Given the description of an element on the screen output the (x, y) to click on. 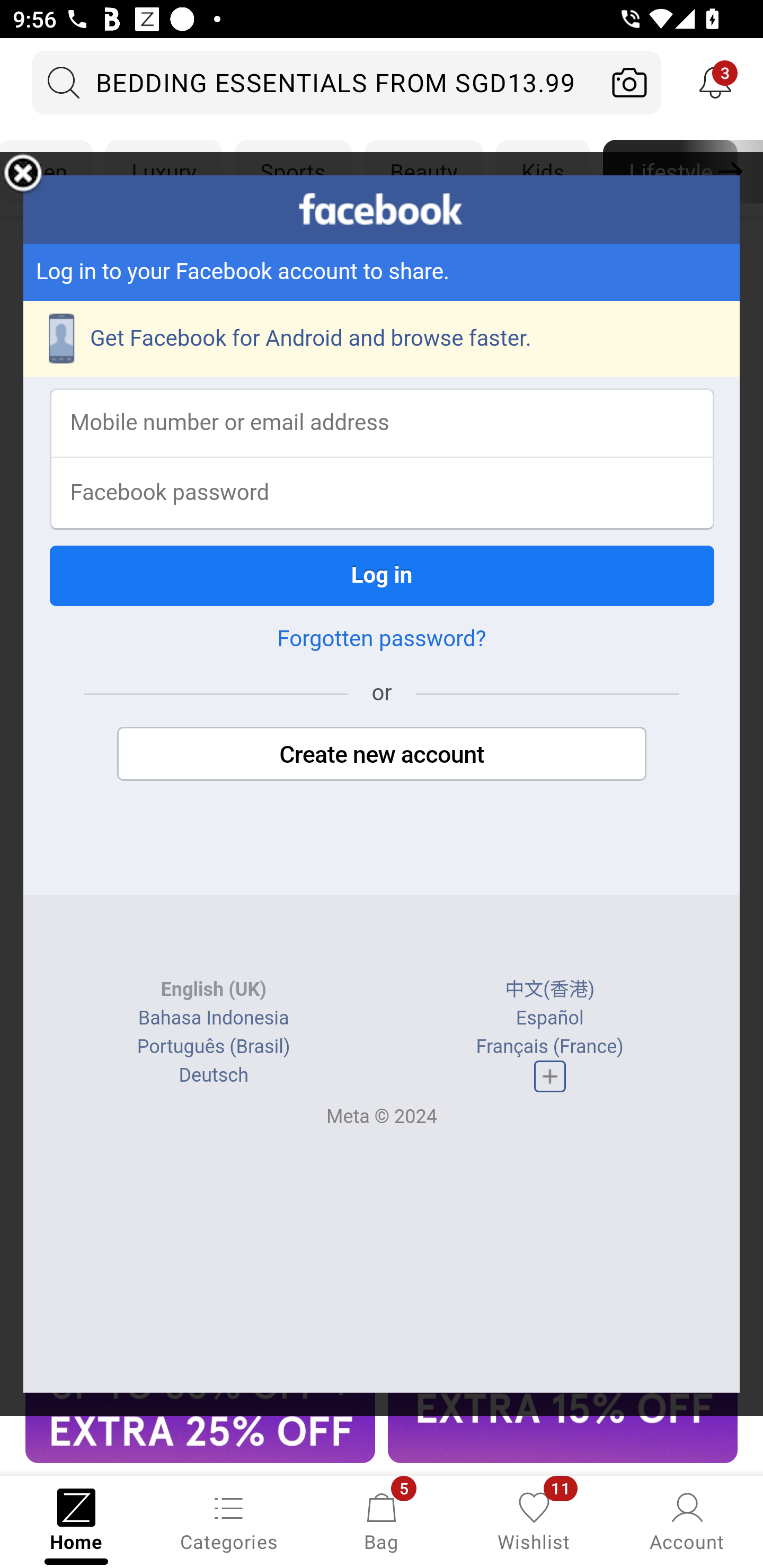
facebook (381, 208)
Get Facebook for Android and browse faster. (381, 339)
Log in (381, 575)
Forgotten password? (381, 638)
Create new account (381, 753)
中文(香港) (550, 989)
Bahasa Indonesia (214, 1018)
Español (549, 1018)
Português (Brasil) (212, 1046)
Français (France) (549, 1046)
Complete list of languages (548, 1075)
Deutsch (212, 1075)
